Given the description of an element on the screen output the (x, y) to click on. 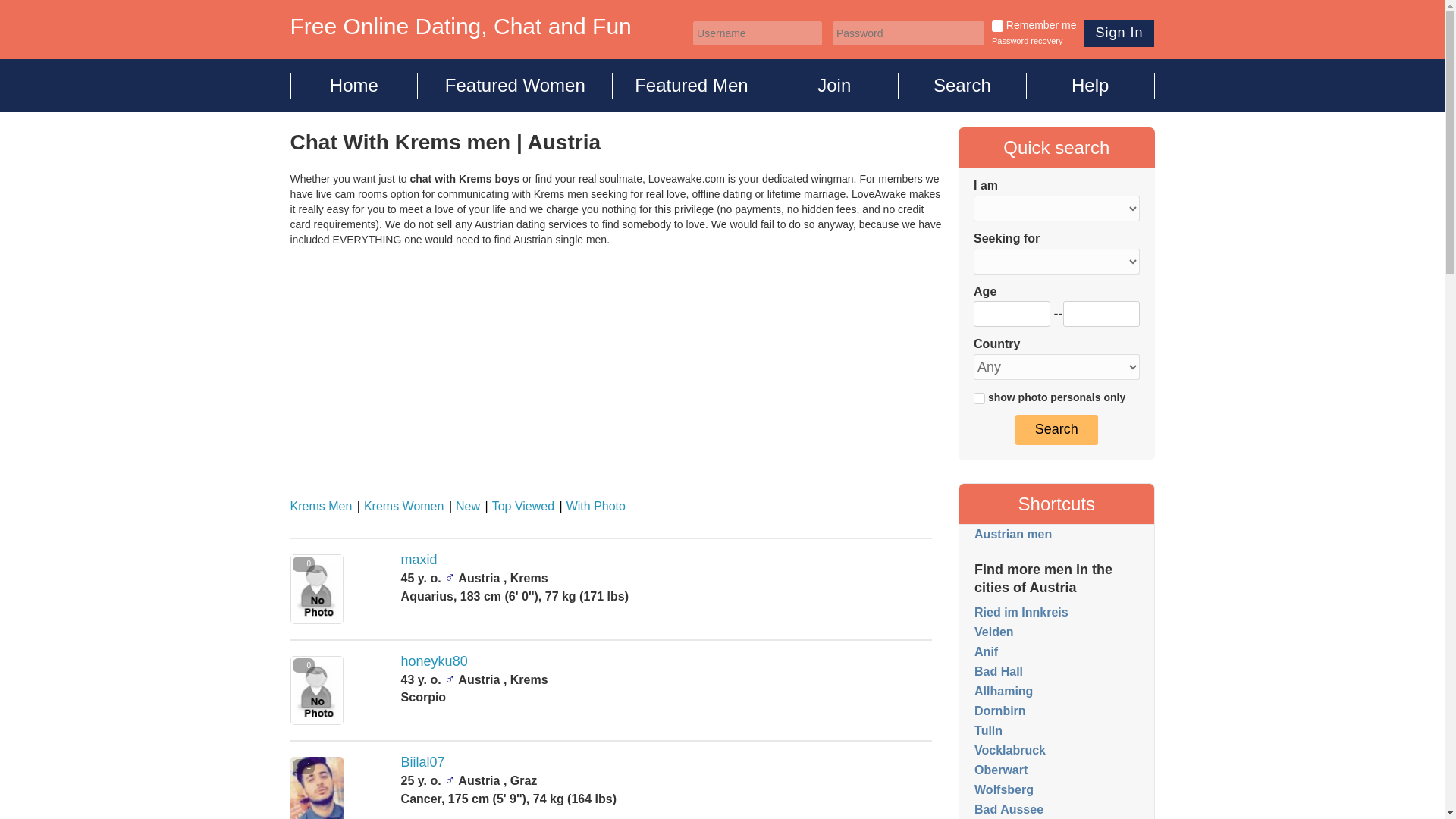
honeyku80 (434, 661)
Featured Men (691, 85)
Sign In (1118, 32)
Featured Women (514, 85)
Help (1090, 85)
Join (834, 85)
Password recovery (1026, 40)
Biilal07 (423, 761)
Krems Women (399, 505)
Search (1055, 429)
